Given the description of an element on the screen output the (x, y) to click on. 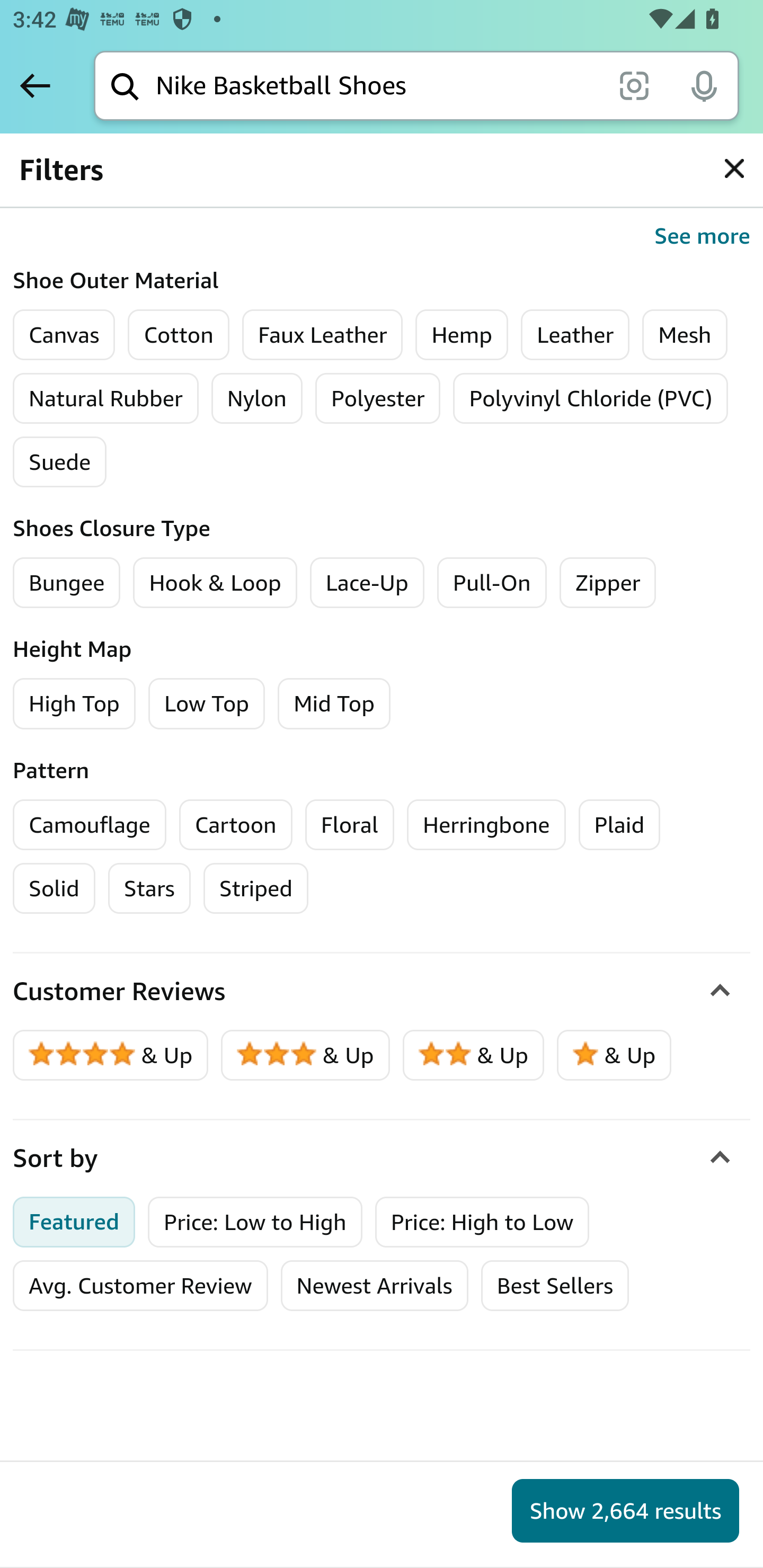
Back (35, 85)
scan it (633, 85)
Shock Resistant (107, 181)
See more, Shoes Special Features See more (381, 235)
Canvas (63, 334)
Cotton (178, 334)
Faux Leather (322, 334)
Hemp (461, 334)
Leather (575, 334)
Mesh (684, 334)
Natural Rubber (105, 397)
Nylon (256, 397)
Polyester (377, 397)
Polyvinyl Chloride (PVC) (591, 397)
Suede (60, 461)
Bungee (66, 582)
Hook & Loop (214, 582)
